Given the description of an element on the screen output the (x, y) to click on. 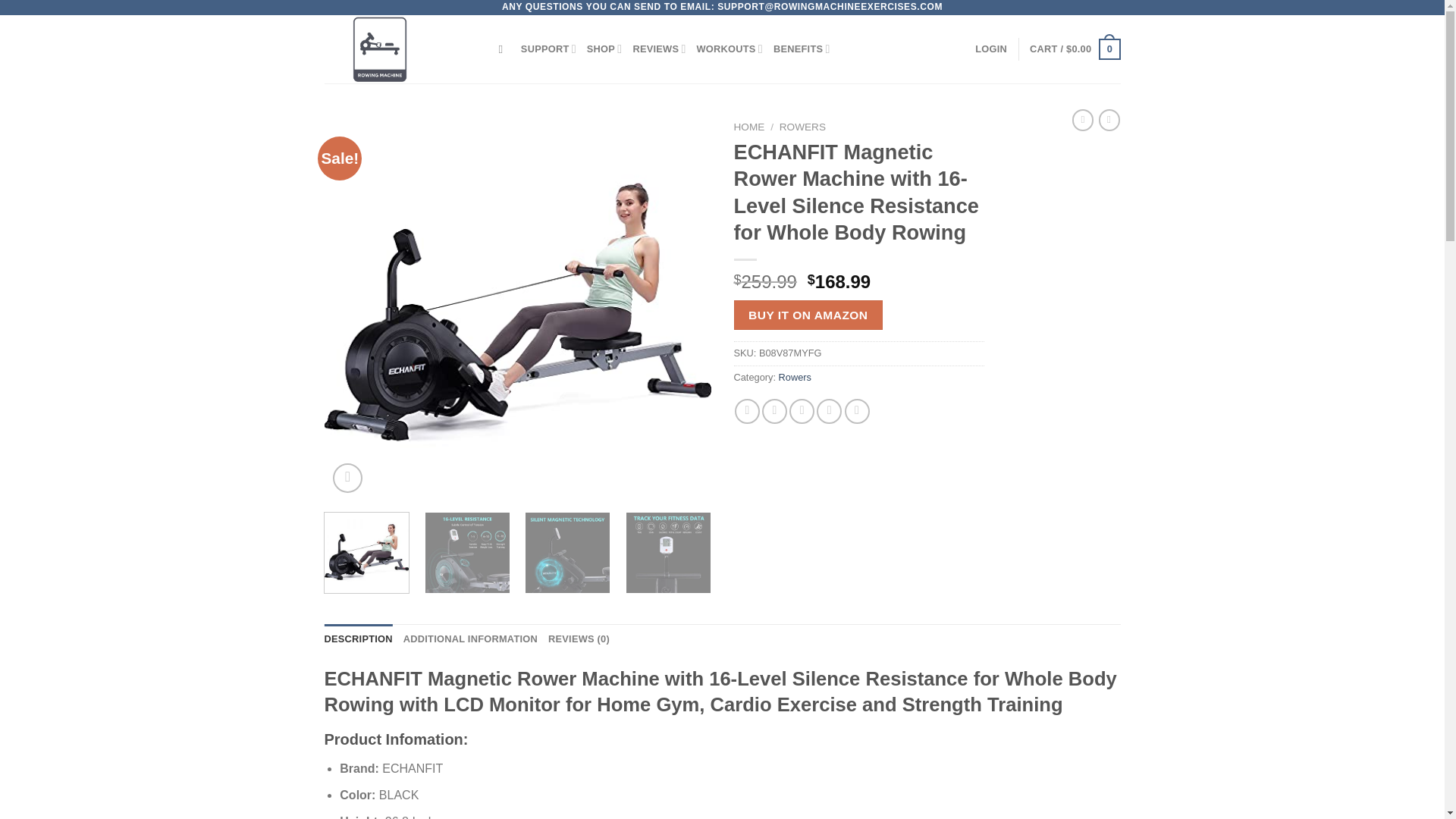
REVIEWS (658, 49)
SUPPORT (548, 49)
Rowing Machine Exercises - Fitness Equipment (400, 49)
Cart (1074, 48)
SHOP (604, 49)
WORKOUTS (729, 49)
BENEFITS (801, 49)
